Given the description of an element on the screen output the (x, y) to click on. 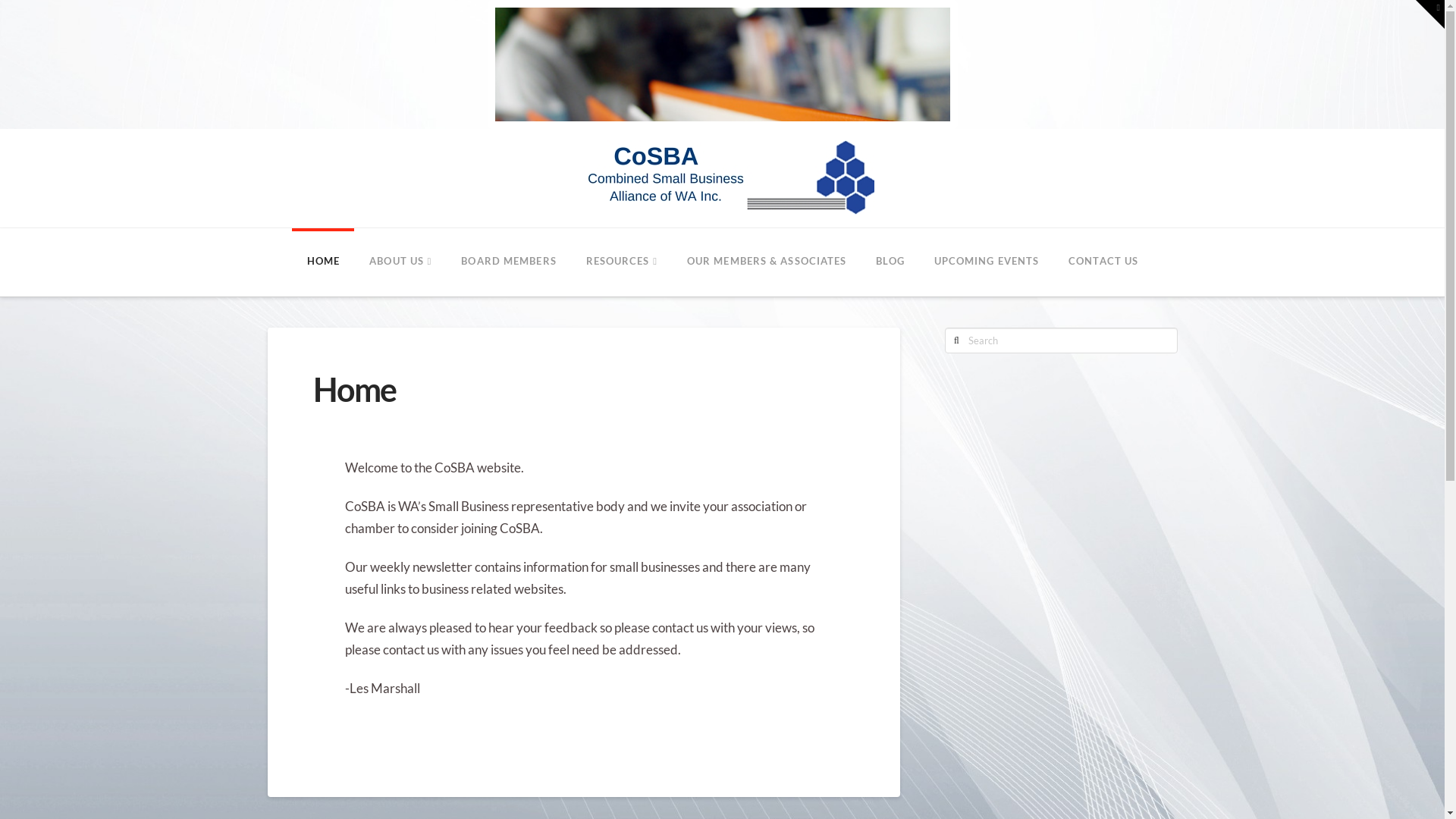
ABOUT US Element type: text (399, 262)
CONTACT US Element type: text (1102, 262)
RESOURCES Element type: text (621, 262)
HOME Element type: text (322, 262)
Toggle the Widgetbar Element type: text (1429, 14)
OUR MEMBERS & ASSOCIATES Element type: text (765, 262)
Combined Small Business Alliance of WA Inc. Element type: hover (721, 178)
BLOG Element type: text (889, 262)
UPCOMING EVENTS Element type: text (986, 262)
BOARD MEMBERS Element type: text (507, 262)
